Given the description of an element on the screen output the (x, y) to click on. 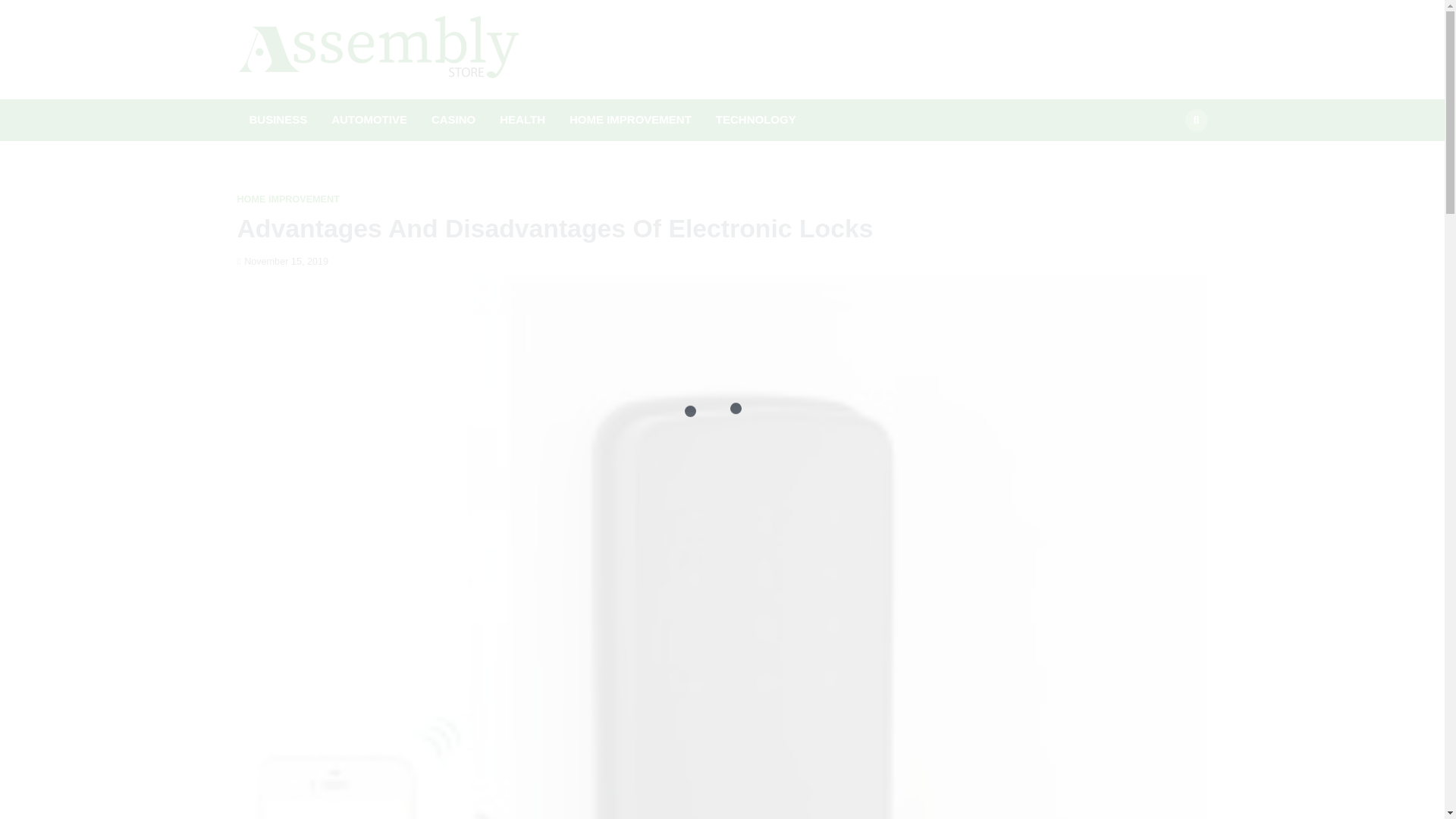
CASINO (453, 119)
Search (1168, 155)
The Assembly Store (637, 65)
HOME IMPROVEMENT (287, 199)
AUTOMOTIVE (368, 119)
HOME IMPROVEMENT (630, 119)
BUSINESS (278, 119)
November 15, 2019 (282, 261)
HEALTH (522, 119)
Search (1196, 119)
TECHNOLOGY (756, 119)
